Given the description of an element on the screen output the (x, y) to click on. 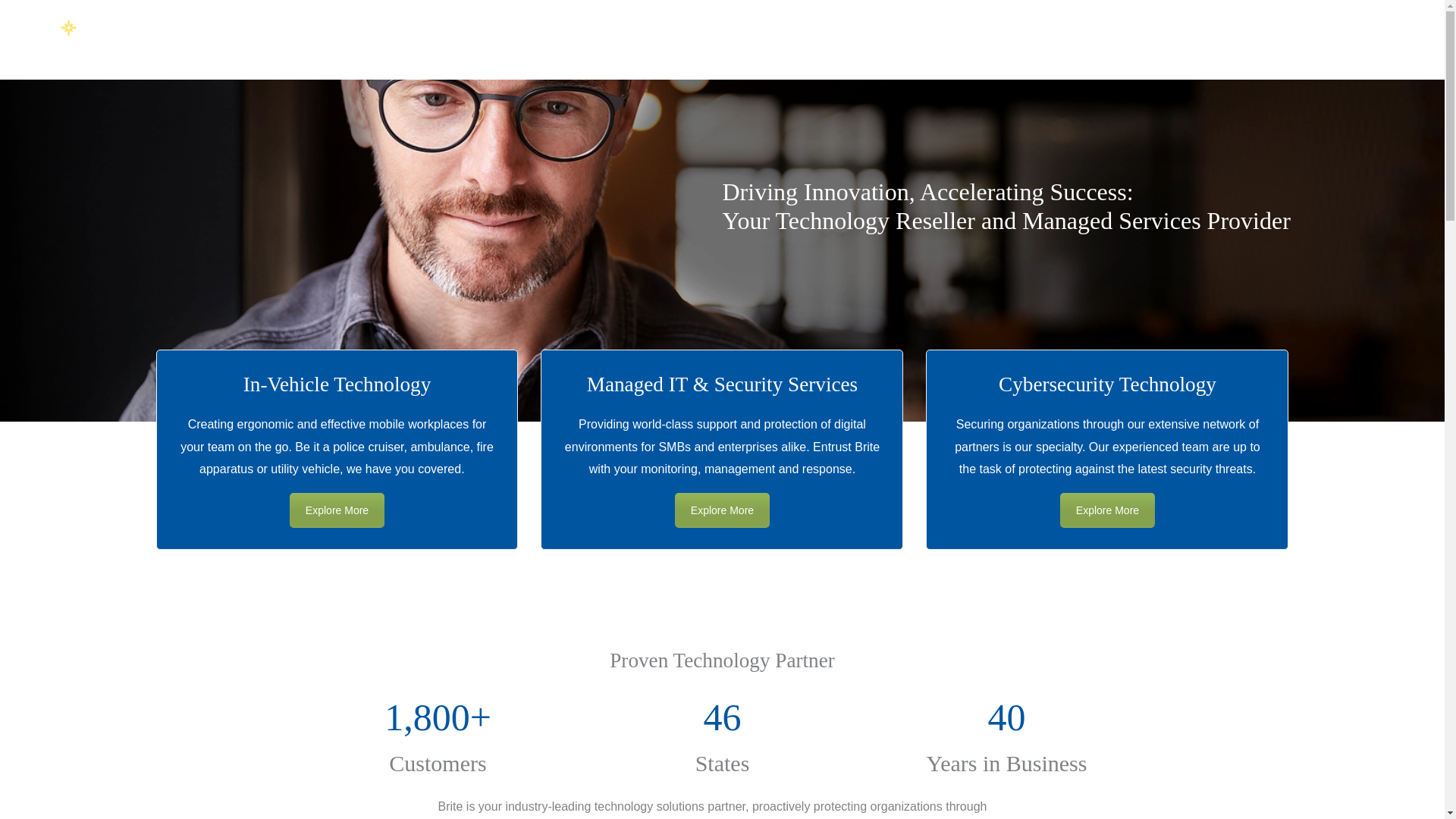
Partners (636, 43)
Managed Services (722, 510)
Managed Services (1106, 510)
Support (805, 43)
Police Technology (336, 510)
Resources (720, 43)
Solutions (557, 43)
